Given the description of an element on the screen output the (x, y) to click on. 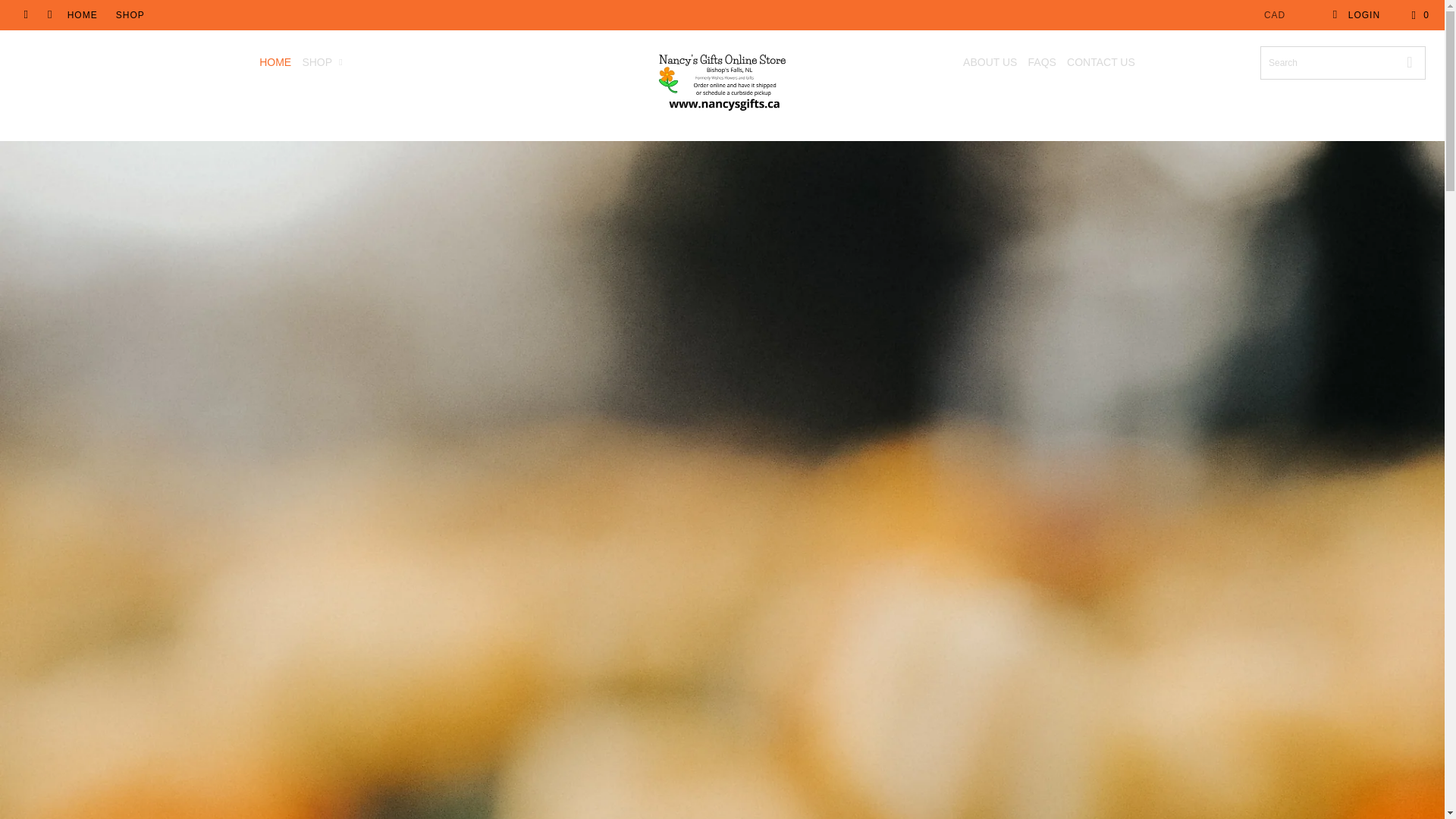
My Account  (1355, 15)
Nancy's Gifts on Instagram (48, 14)
Nancy's Gifts (722, 85)
Nancy's Gifts on Facebook (25, 14)
ABOUT US (989, 62)
SHOP (324, 62)
SHOP (130, 15)
HOME (81, 15)
LOGIN (1355, 15)
CONTACT US (1101, 62)
